Given the description of an element on the screen output the (x, y) to click on. 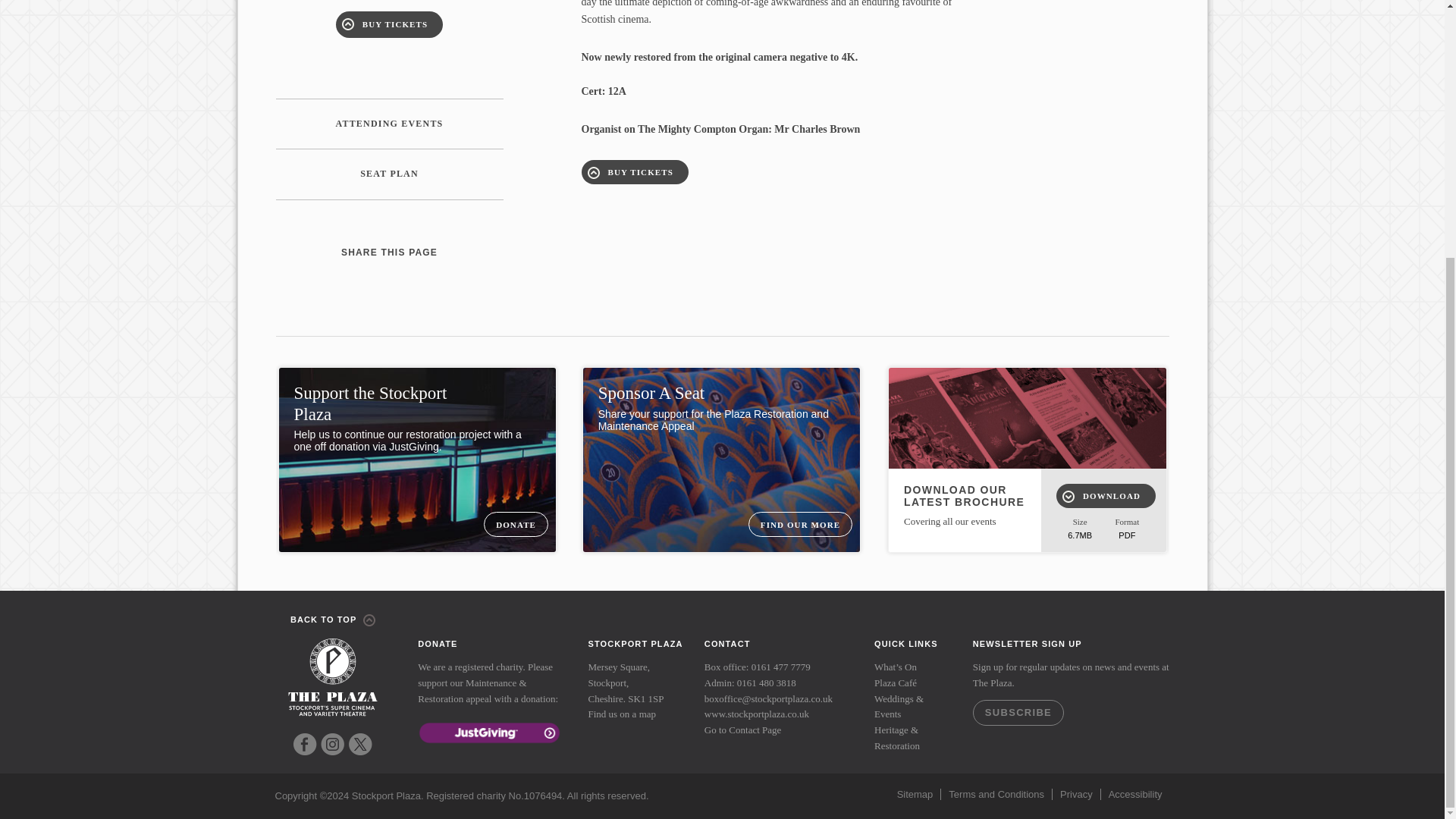
SEAT PLAN (389, 174)
ATTENDING EVENTS (389, 124)
BUY TICKETS (389, 23)
